Given the description of an element on the screen output the (x, y) to click on. 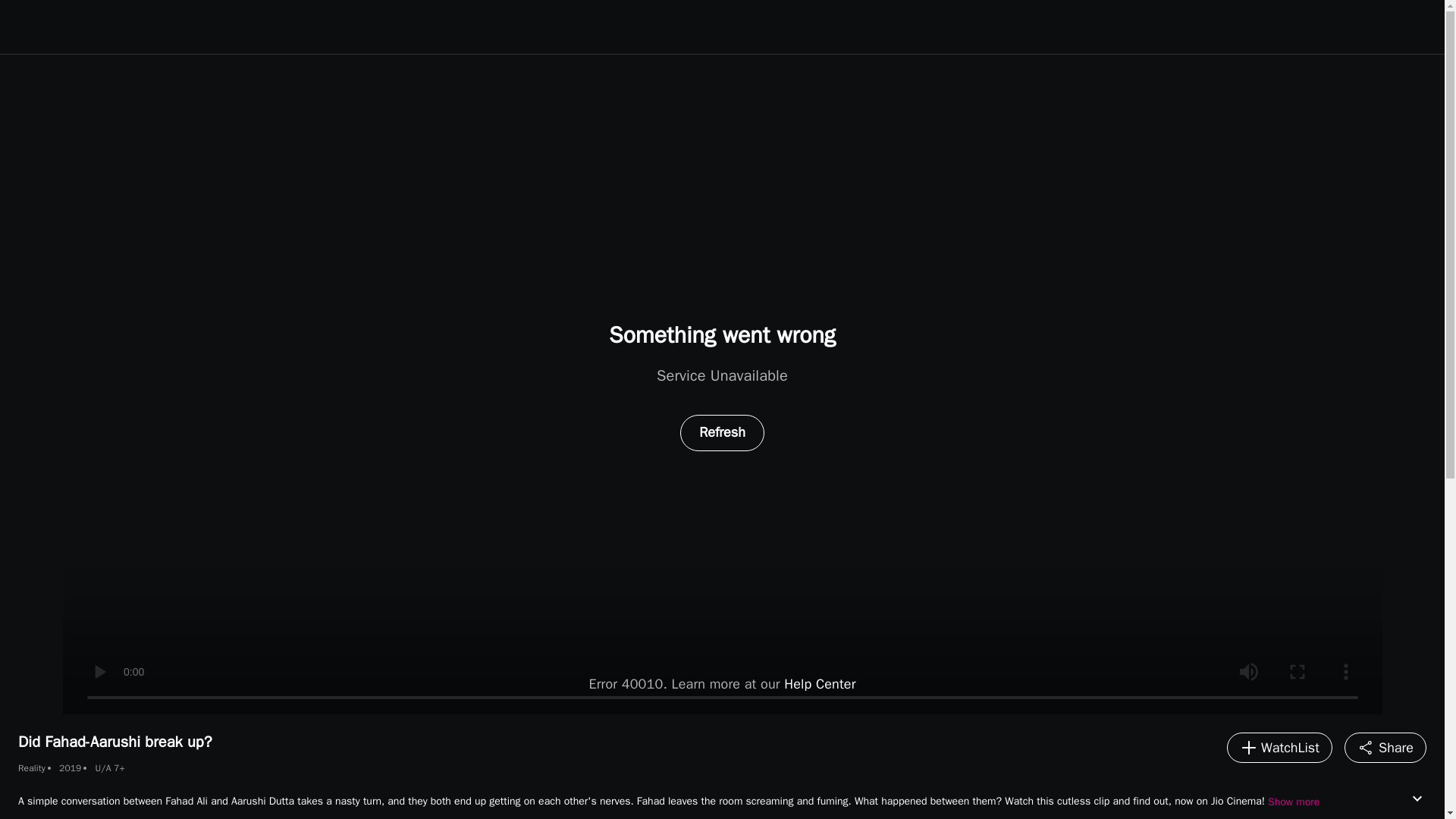
Refresh (721, 432)
Share (1384, 747)
WatchList (1279, 747)
